Given the description of an element on the screen output the (x, y) to click on. 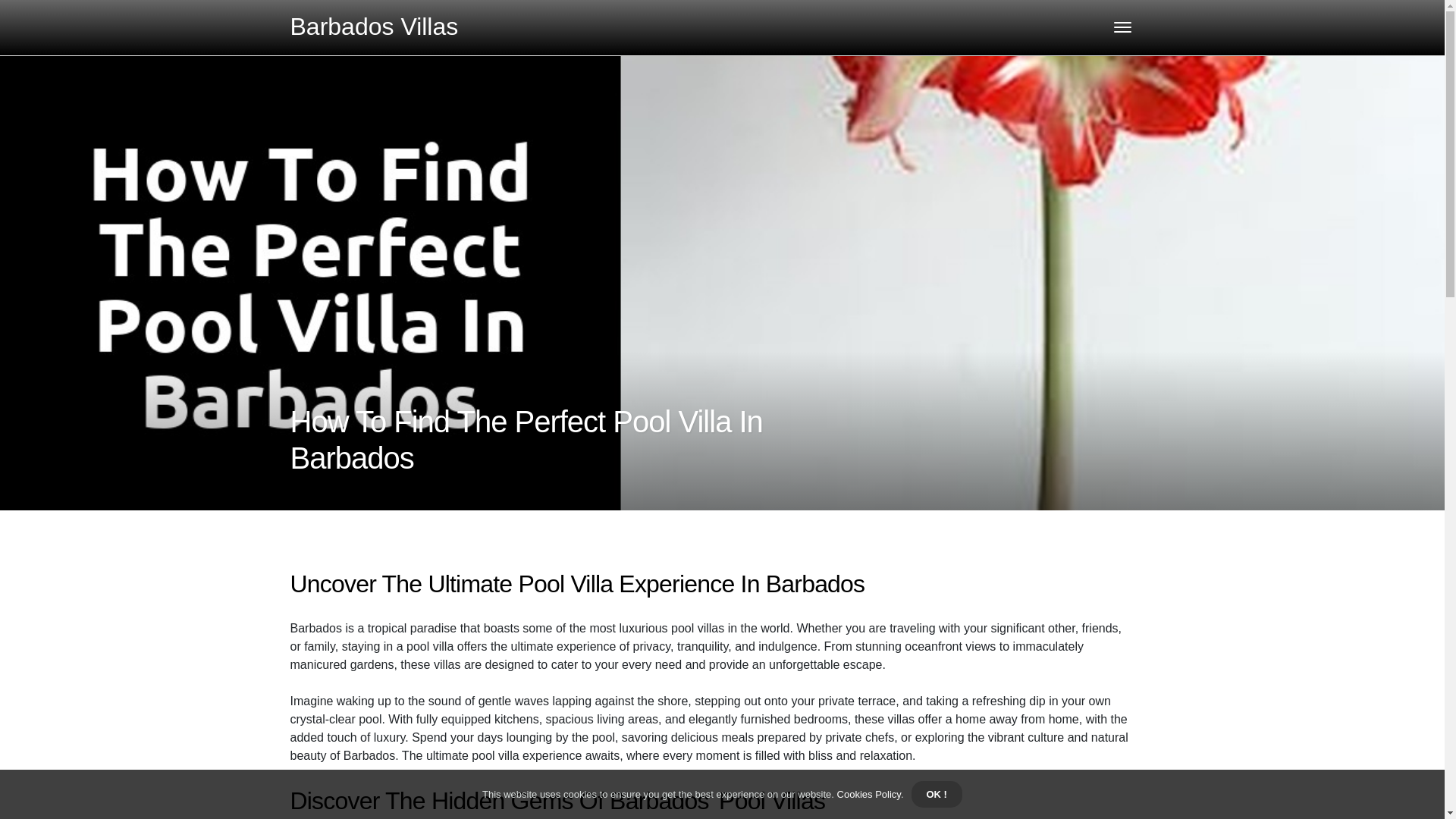
Cookies Policy (867, 794)
Barbados Villas (373, 26)
